Given the description of an element on the screen output the (x, y) to click on. 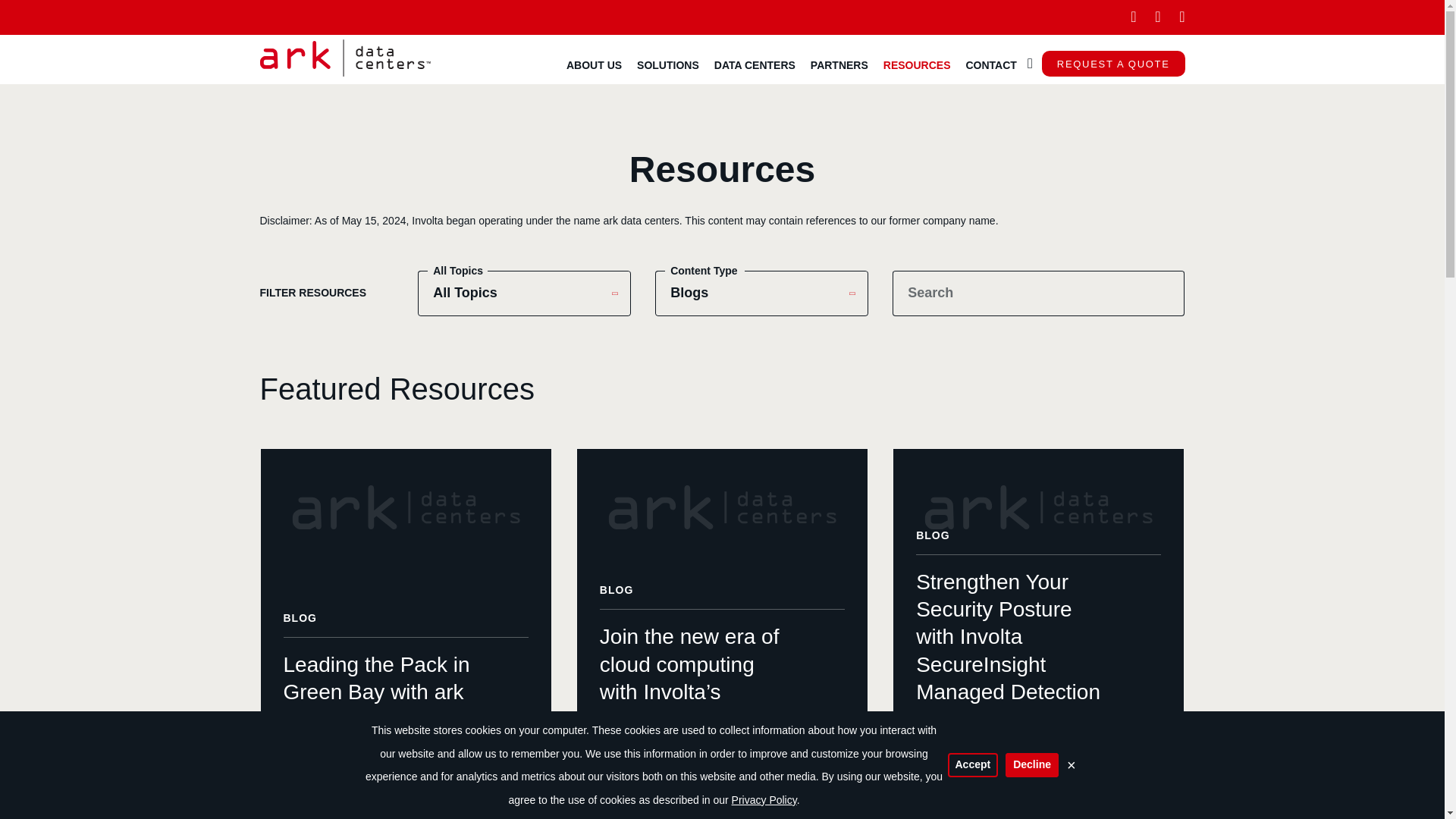
DATA CENTERS (754, 64)
PARTNERS (839, 64)
ABOUT US (593, 64)
SOLUTIONS (667, 64)
